Given the description of an element on the screen output the (x, y) to click on. 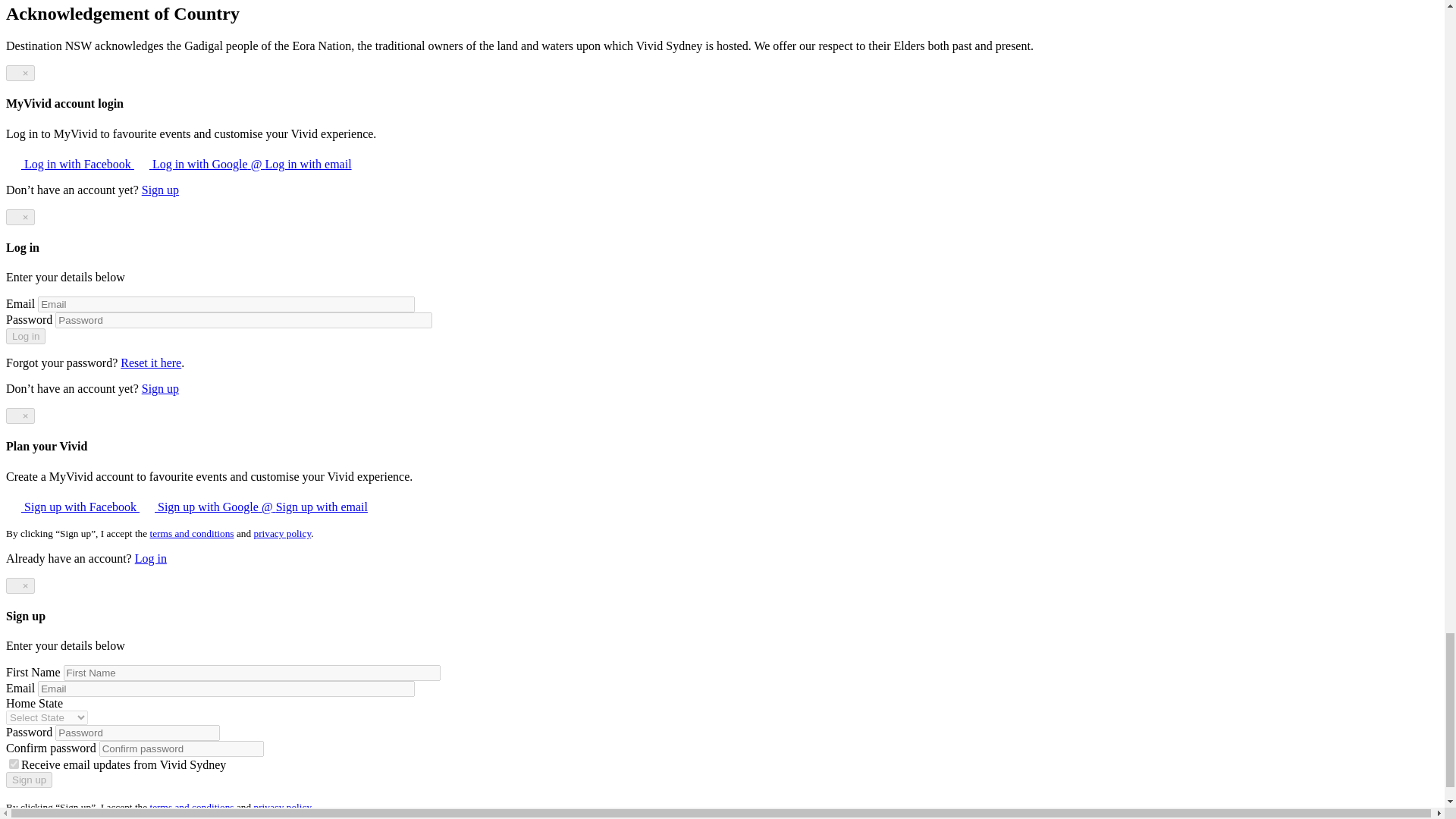
1 (13, 764)
